Given the description of an element on the screen output the (x, y) to click on. 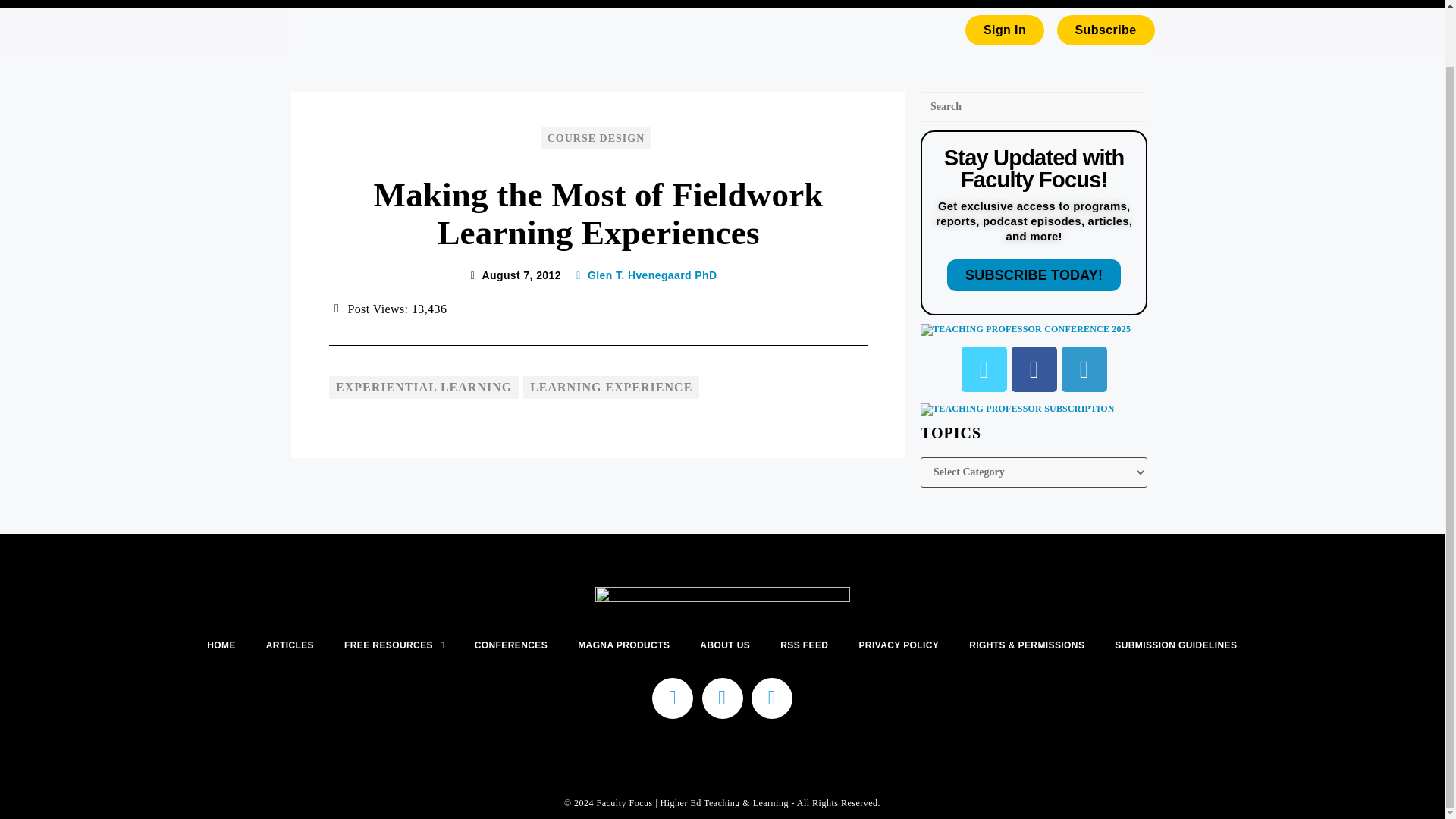
ABOUT US (814, 3)
